Given the description of an element on the screen output the (x, y) to click on. 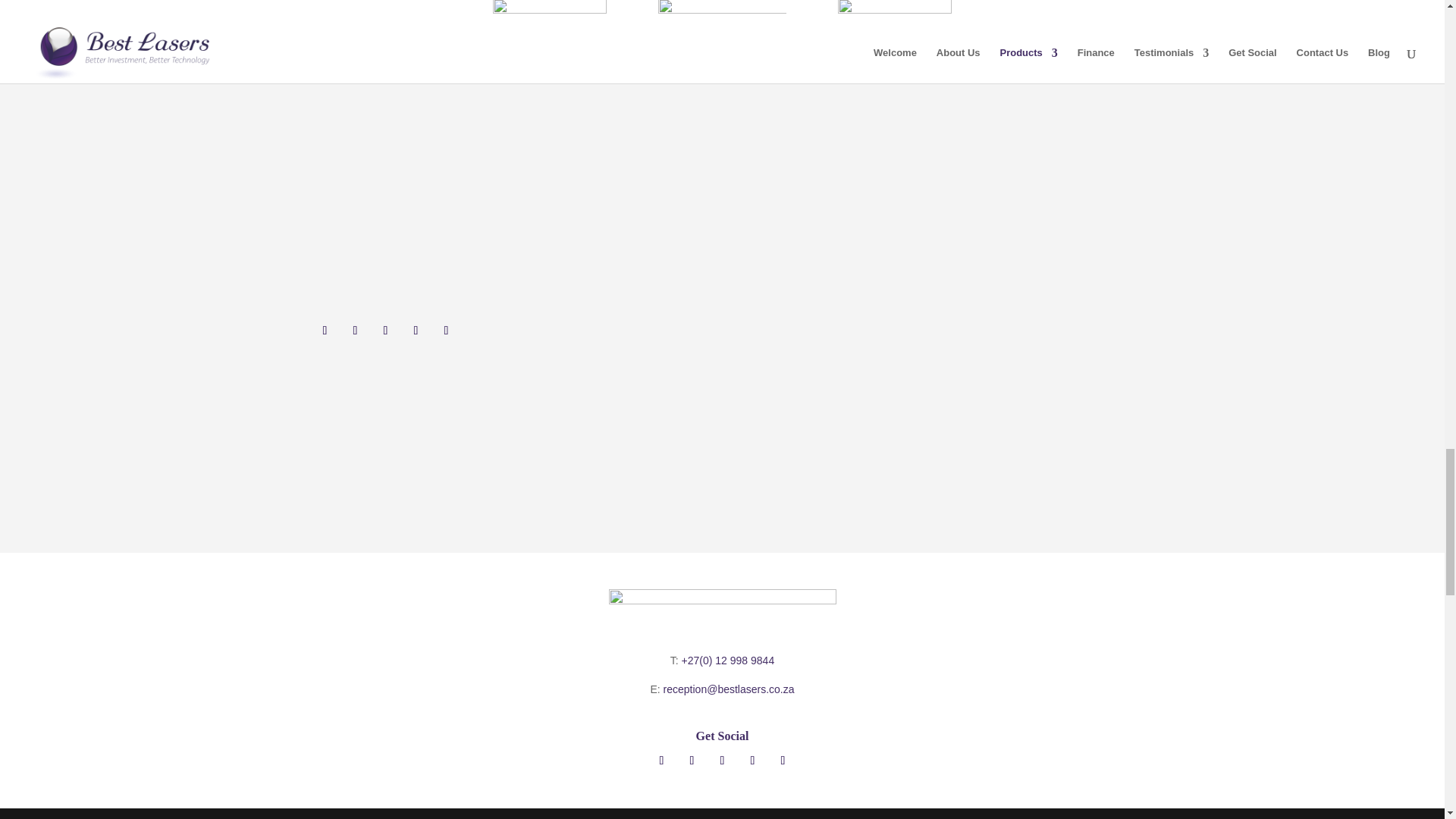
Follow on X (384, 330)
Follow on Facebook (660, 760)
Follow on LinkedIn (415, 330)
Follow on Instagram (354, 330)
Best-Lasers-FullRes-1-e1566325125433 (721, 619)
Follow on Facebook (324, 330)
Alma-200x69 (722, 21)
Follow on Youtube (445, 330)
